Given the description of an element on the screen output the (x, y) to click on. 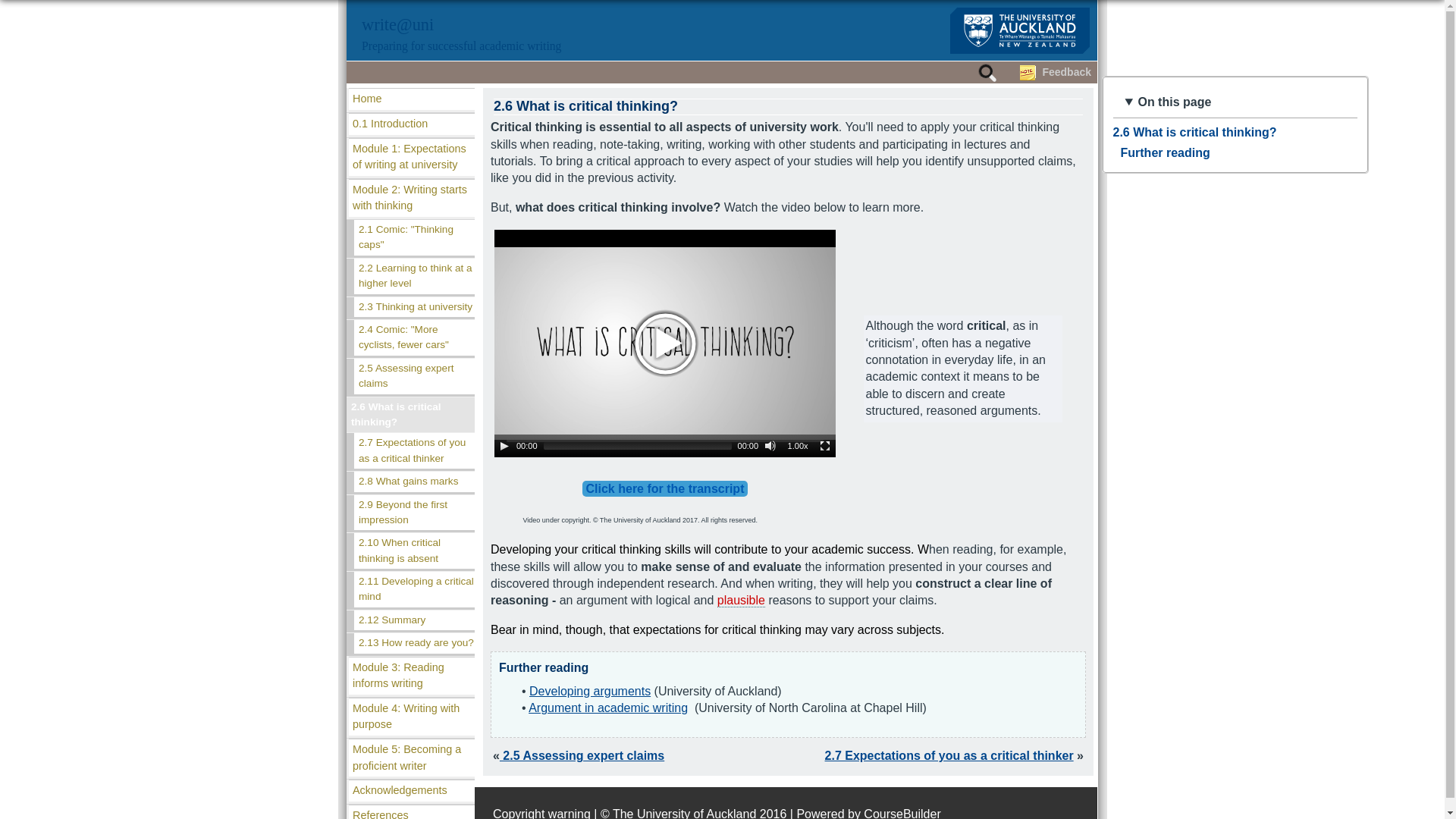
Module 1: Expectations of writing at university (411, 157)
Fullscreen (824, 445)
Feedback (1066, 71)
Search (1003, 89)
Opens in a new window (607, 707)
2.5 Assessing expert claims (413, 375)
Module 2: Writing starts with thinking (411, 198)
Play (504, 445)
2.8 What gains marks (413, 481)
2.1 Comic: "Thinking caps" (413, 237)
Opens in a new window (589, 690)
2.6 What is critical thinking? (410, 415)
Home (411, 98)
2.9 Beyond the first impression (413, 512)
